Given the description of an element on the screen output the (x, y) to click on. 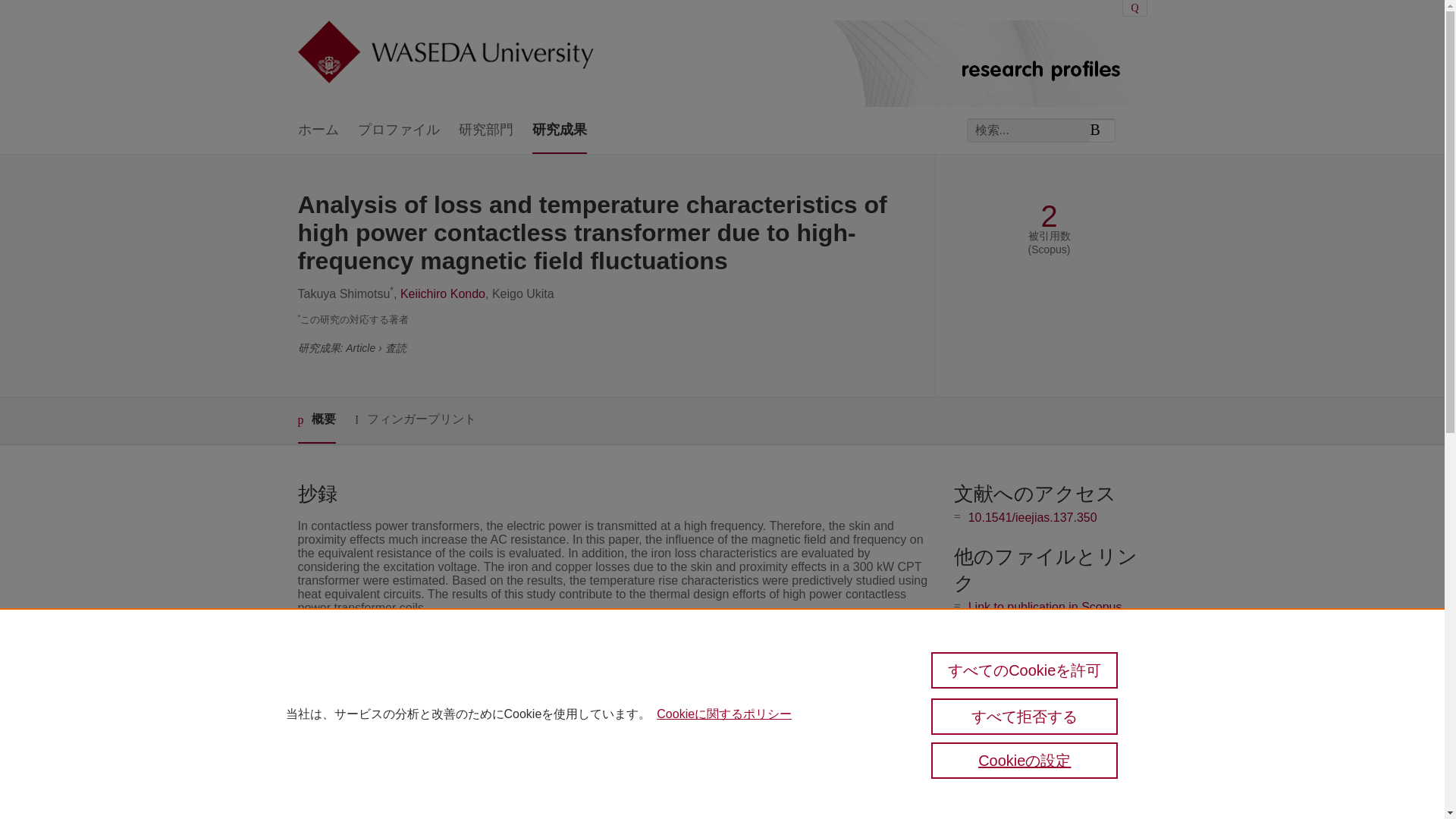
Link to publication in Scopus (1045, 606)
Link to citation list in Scopus (1044, 631)
IEEJ Transactions on Industry Applications (621, 703)
Keiichiro Kondo (442, 293)
